Given the description of an element on the screen output the (x, y) to click on. 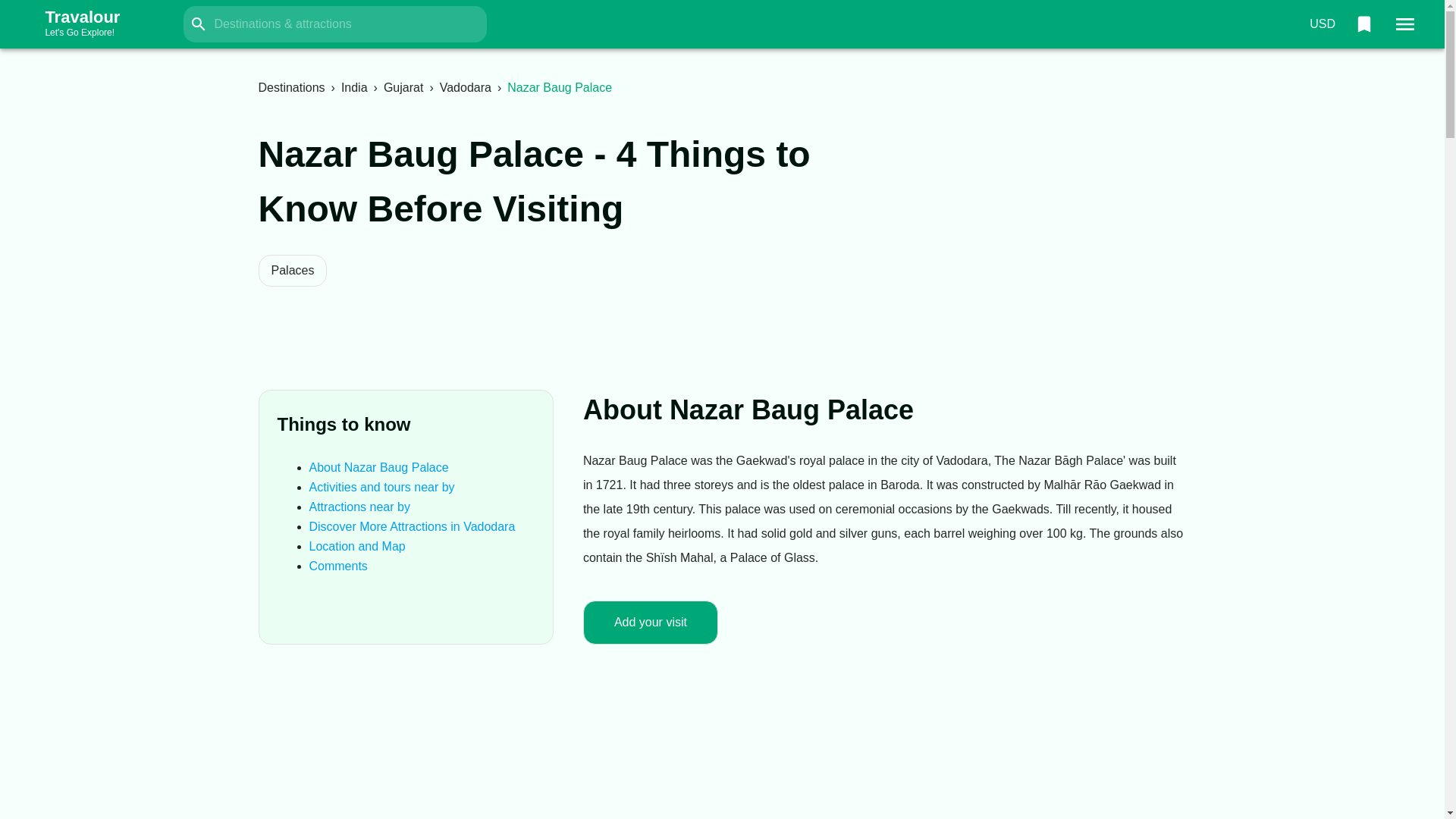
Gujarat (97, 23)
India (403, 87)
USD (354, 87)
Attractions near by (1321, 23)
Activities and tours near by (359, 506)
0 (381, 486)
Discover More Attractions in Vadodara (1363, 24)
Vadodara (411, 526)
About Nazar Baug Palace (465, 87)
Comments (378, 467)
Add your visit (338, 565)
Destinations (650, 621)
Location and Map (290, 87)
